Given the description of an element on the screen output the (x, y) to click on. 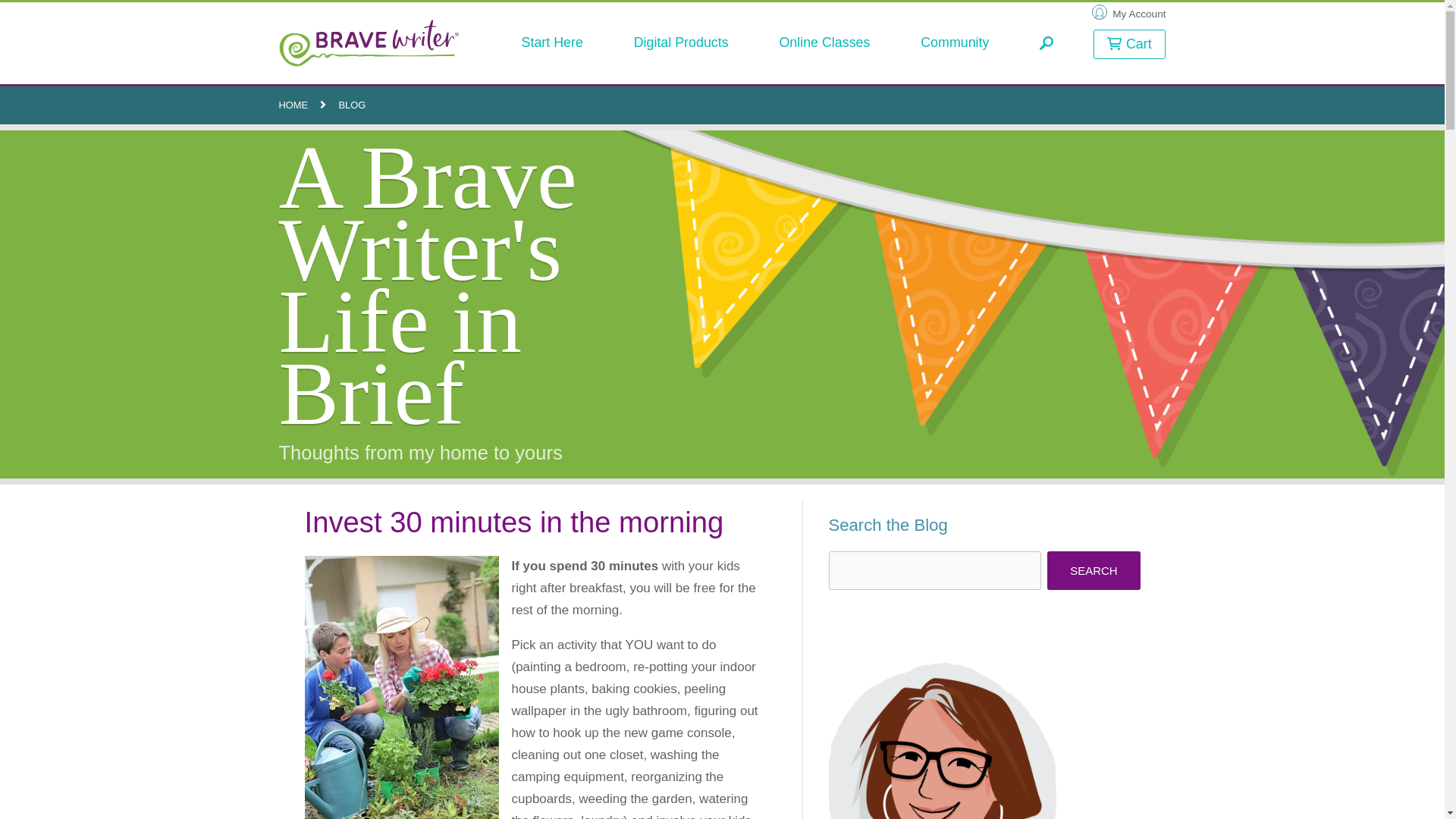
Search (1093, 570)
